Given the description of an element on the screen output the (x, y) to click on. 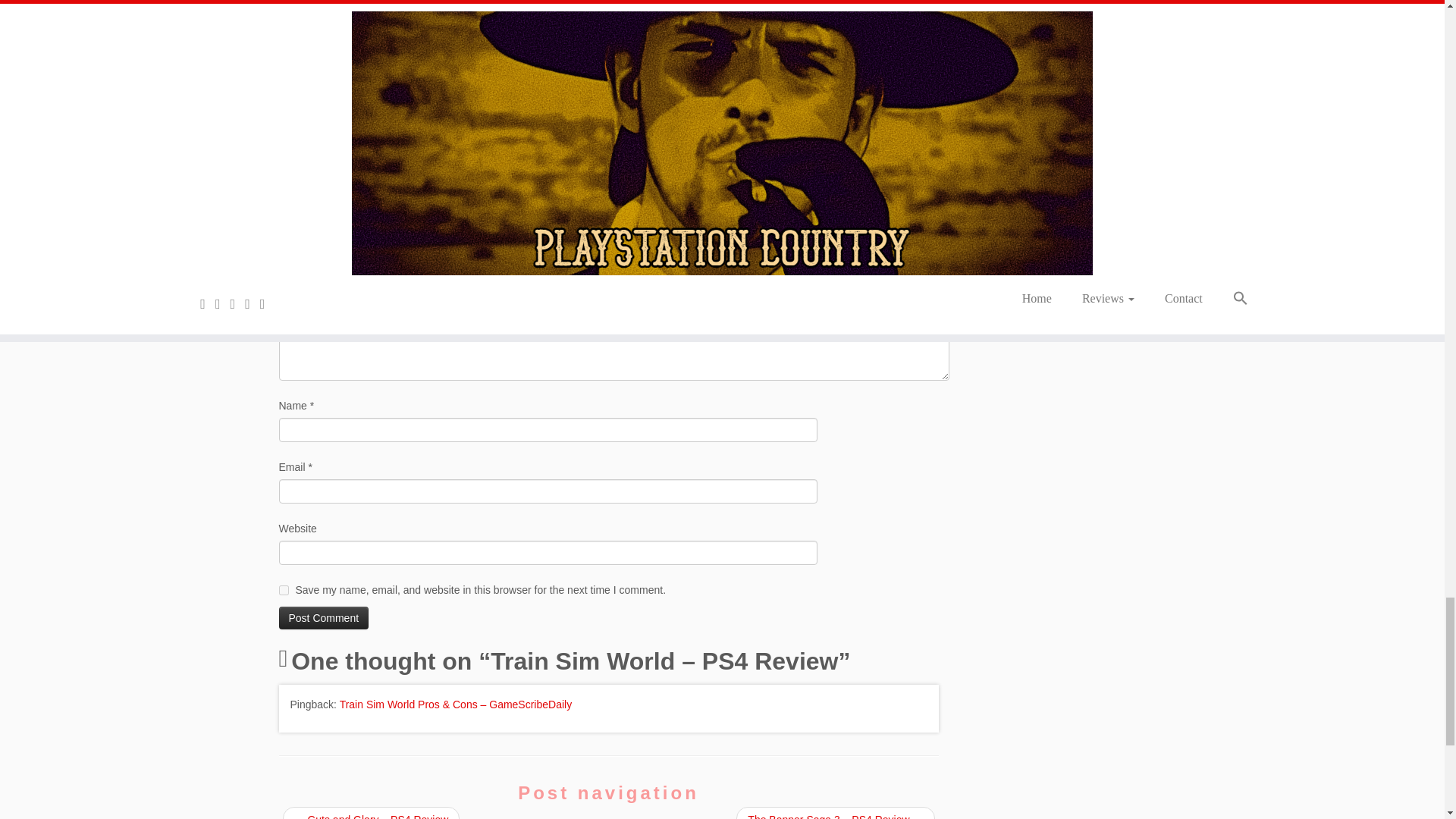
Post Comment (324, 617)
Post Comment (324, 617)
yes (283, 590)
